Given the description of an element on the screen output the (x, y) to click on. 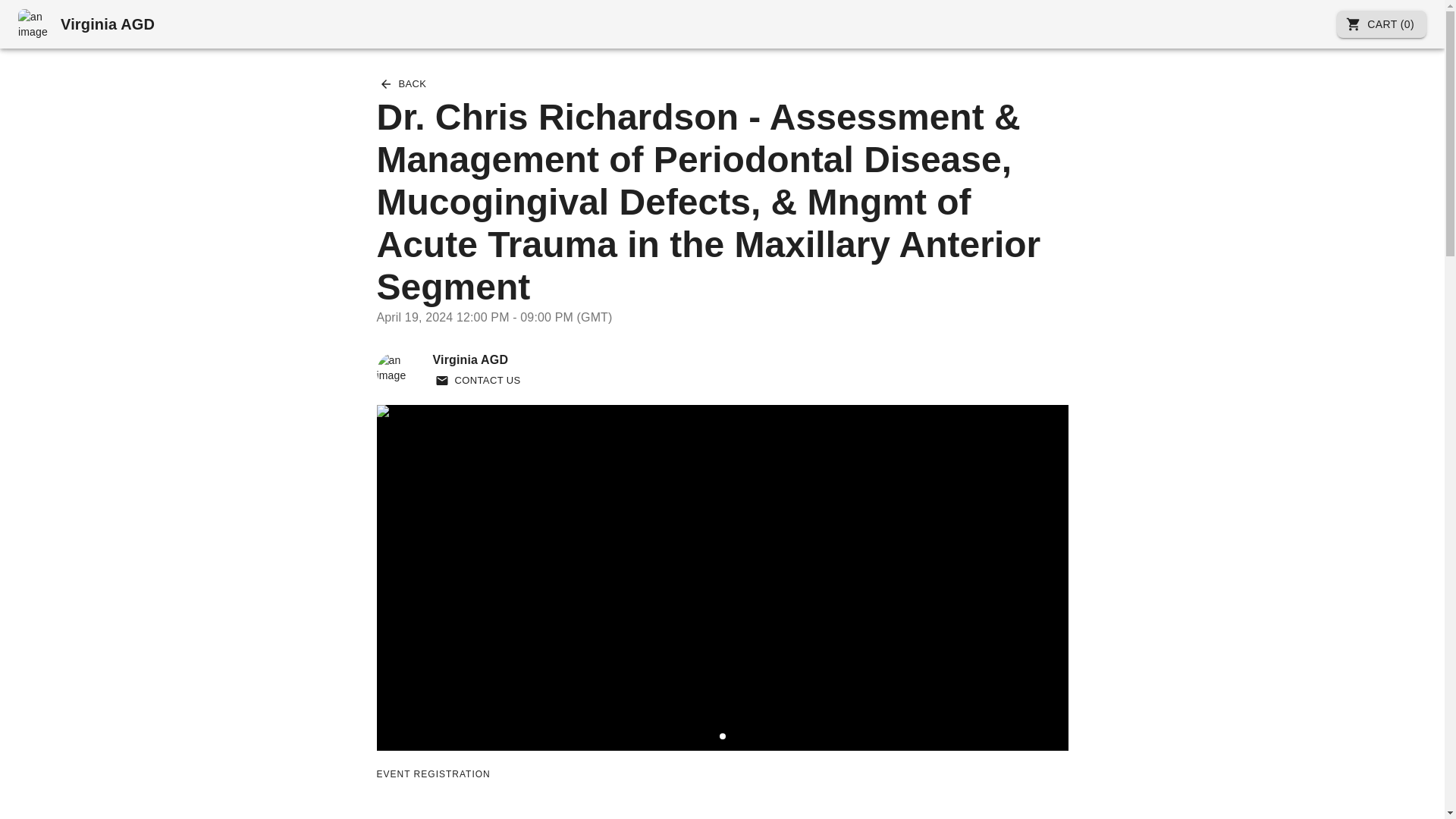
BACK (402, 84)
Virginia AGD (85, 24)
Virginia AGD (478, 368)
CONTACT US (478, 381)
